Given the description of an element on the screen output the (x, y) to click on. 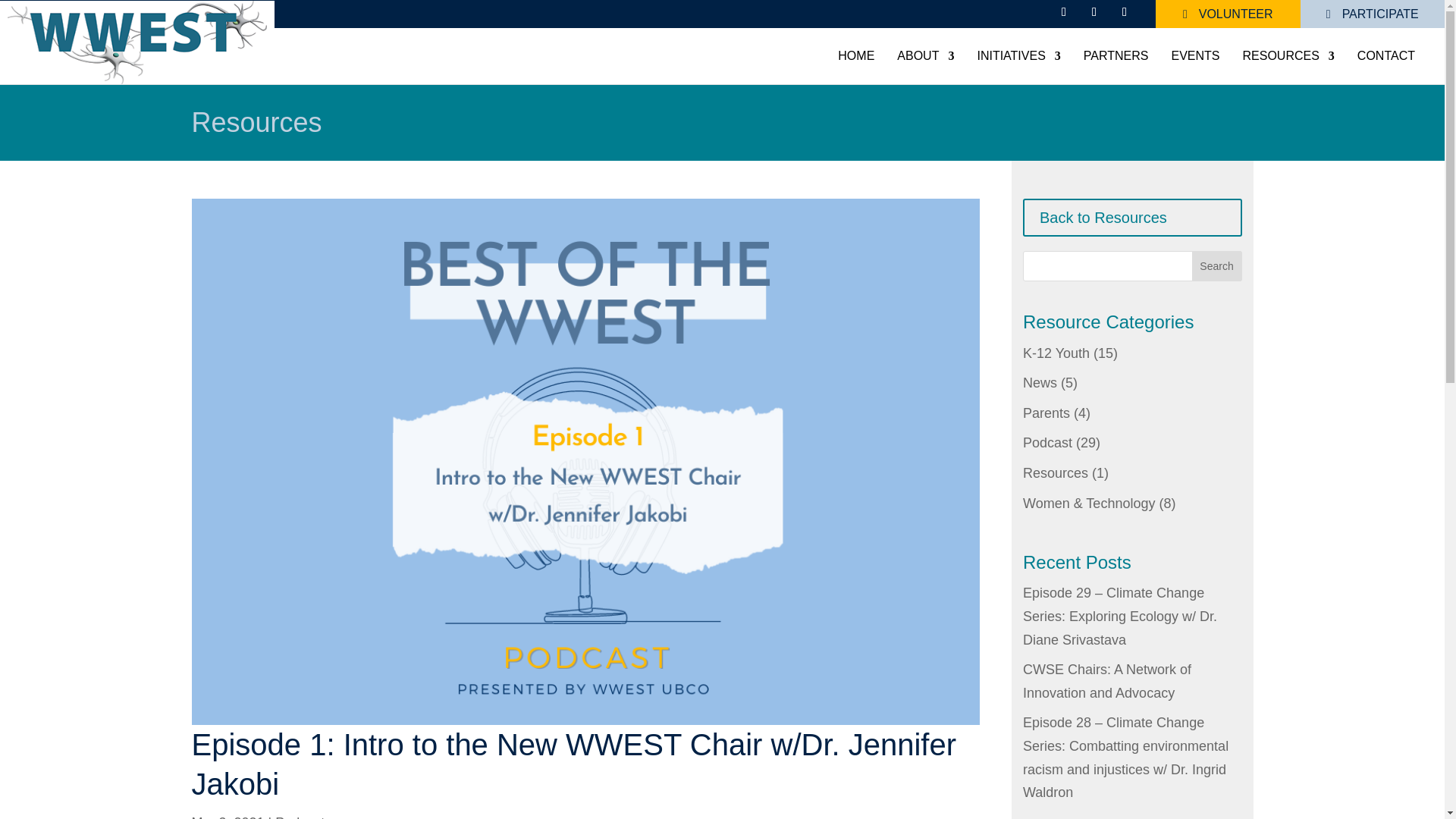
INITIATIVES (1017, 55)
CONTACT (1385, 55)
Follow on Twitter (1093, 12)
RESOURCES (1287, 55)
Search (1216, 265)
VOLUNTEER (1228, 13)
Follow on Facebook (1063, 12)
PARTNERS (1115, 55)
Follow on Instagram (1124, 12)
ABOUT (924, 55)
